Given the description of an element on the screen output the (x, y) to click on. 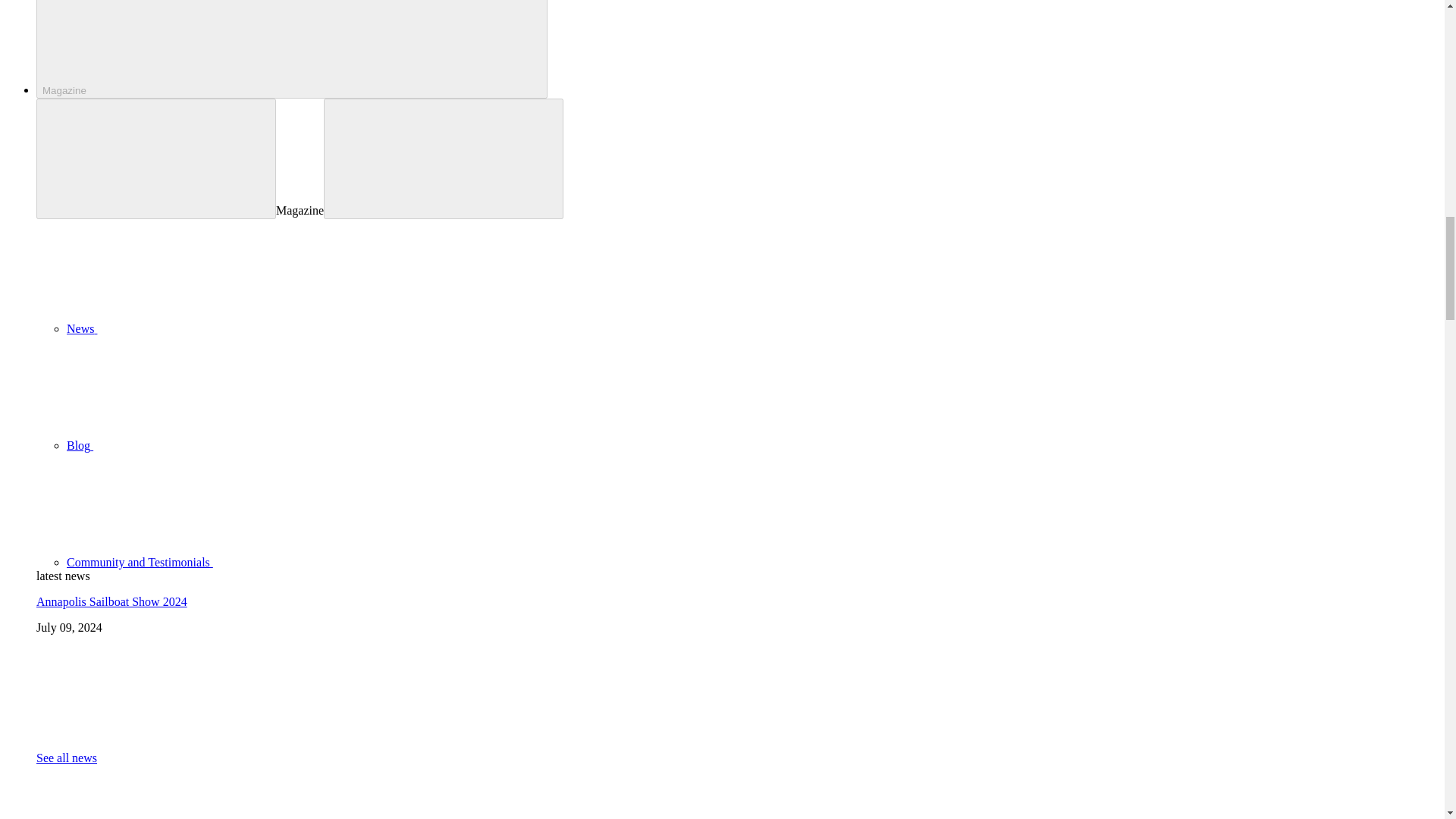
Magazine (291, 49)
News (195, 328)
News (195, 328)
Community and Testimonials  (253, 562)
Blog (193, 445)
See all news (66, 757)
See all news (66, 757)
Community and Testimonials (253, 562)
Blog (193, 445)
